Given the description of an element on the screen output the (x, y) to click on. 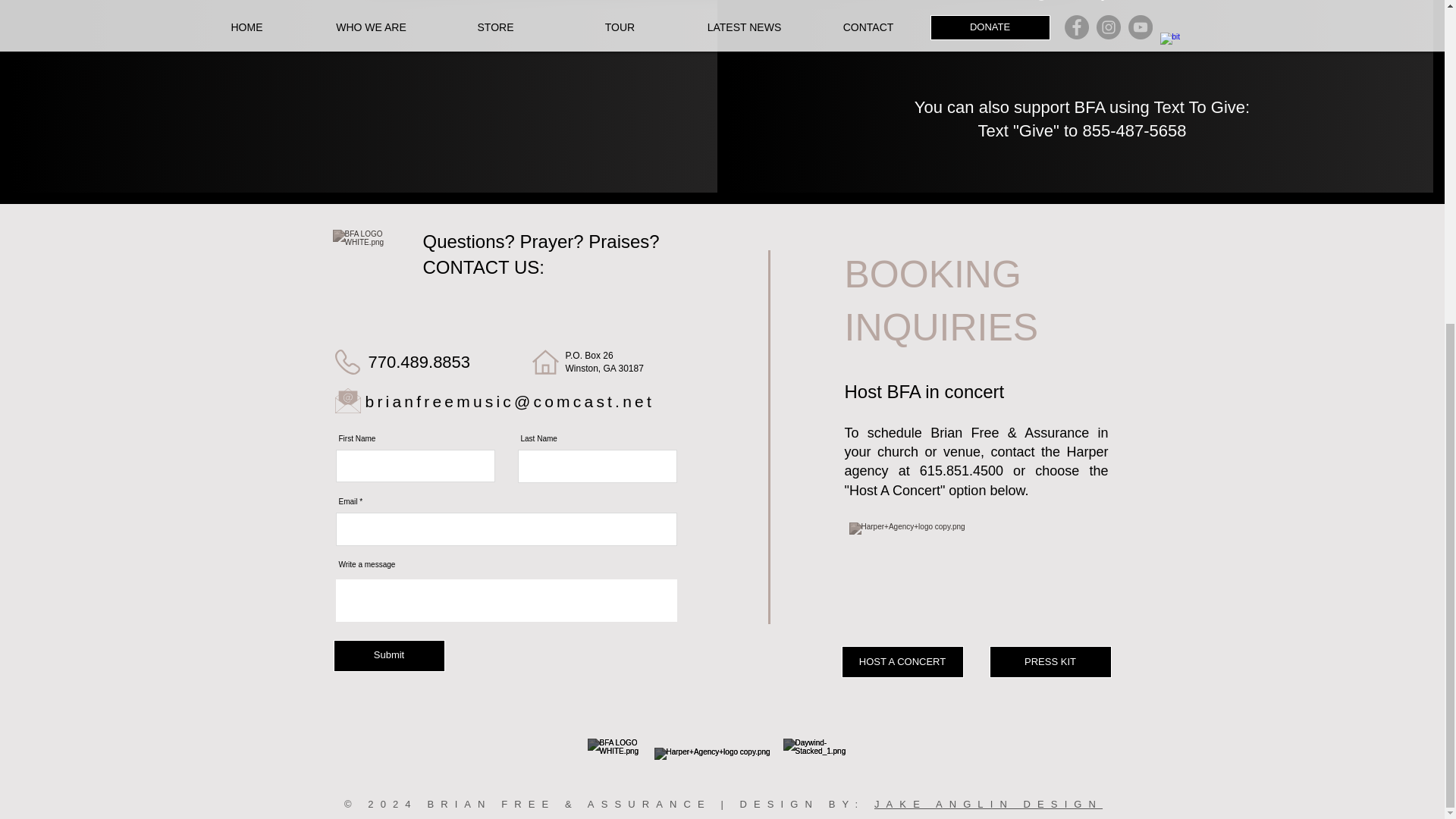
855-487-5658 (1133, 130)
HOST A CONCERT (902, 662)
770.489.8853 (419, 361)
Submit (389, 655)
JAKE ANGLIN DESIGN (988, 803)
PRESS KIT (1049, 662)
